Given the description of an element on the screen output the (x, y) to click on. 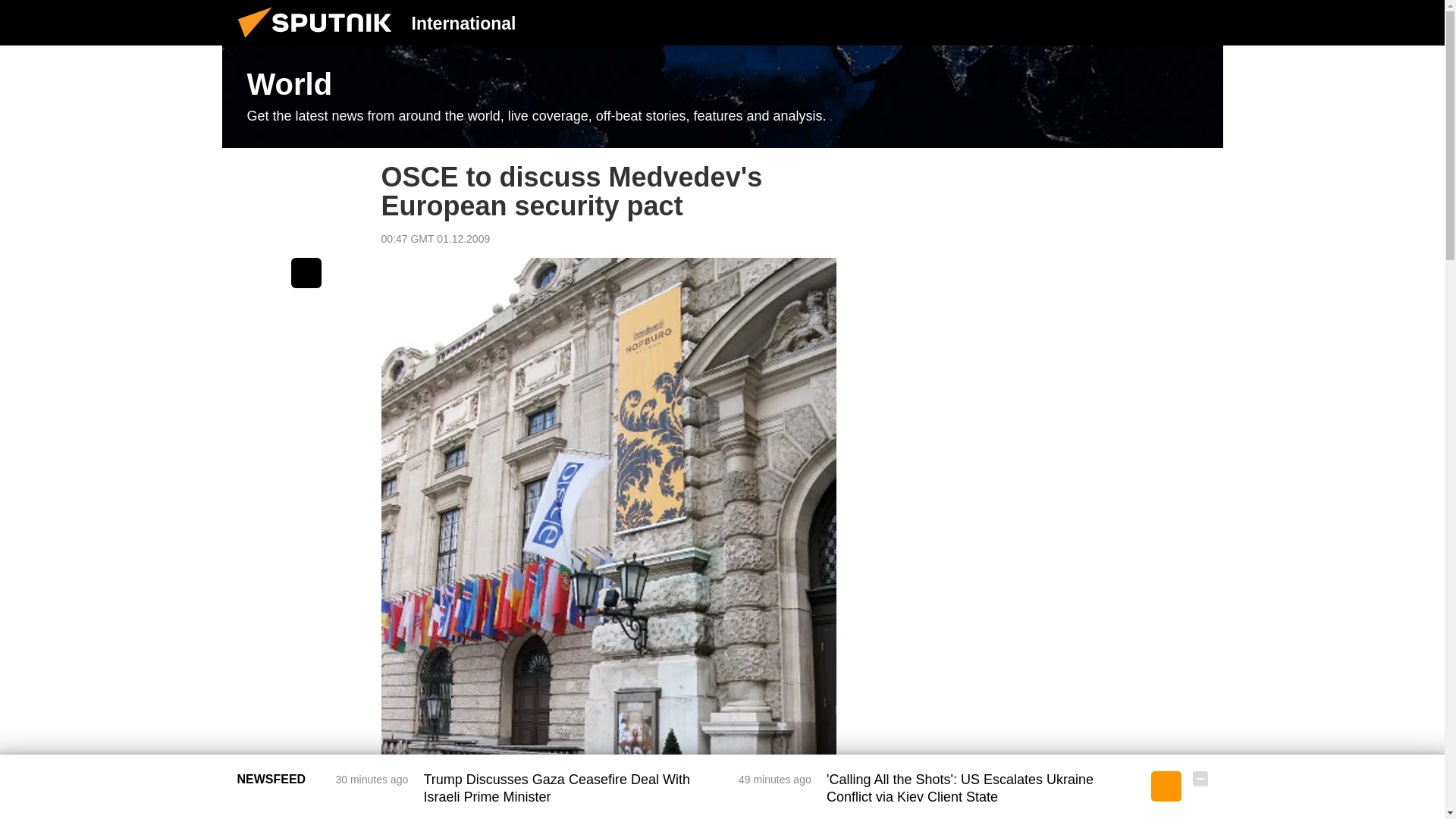
Chats (1199, 22)
World (722, 96)
Authorization (1123, 22)
Sputnik International (319, 41)
